Given the description of an element on the screen output the (x, y) to click on. 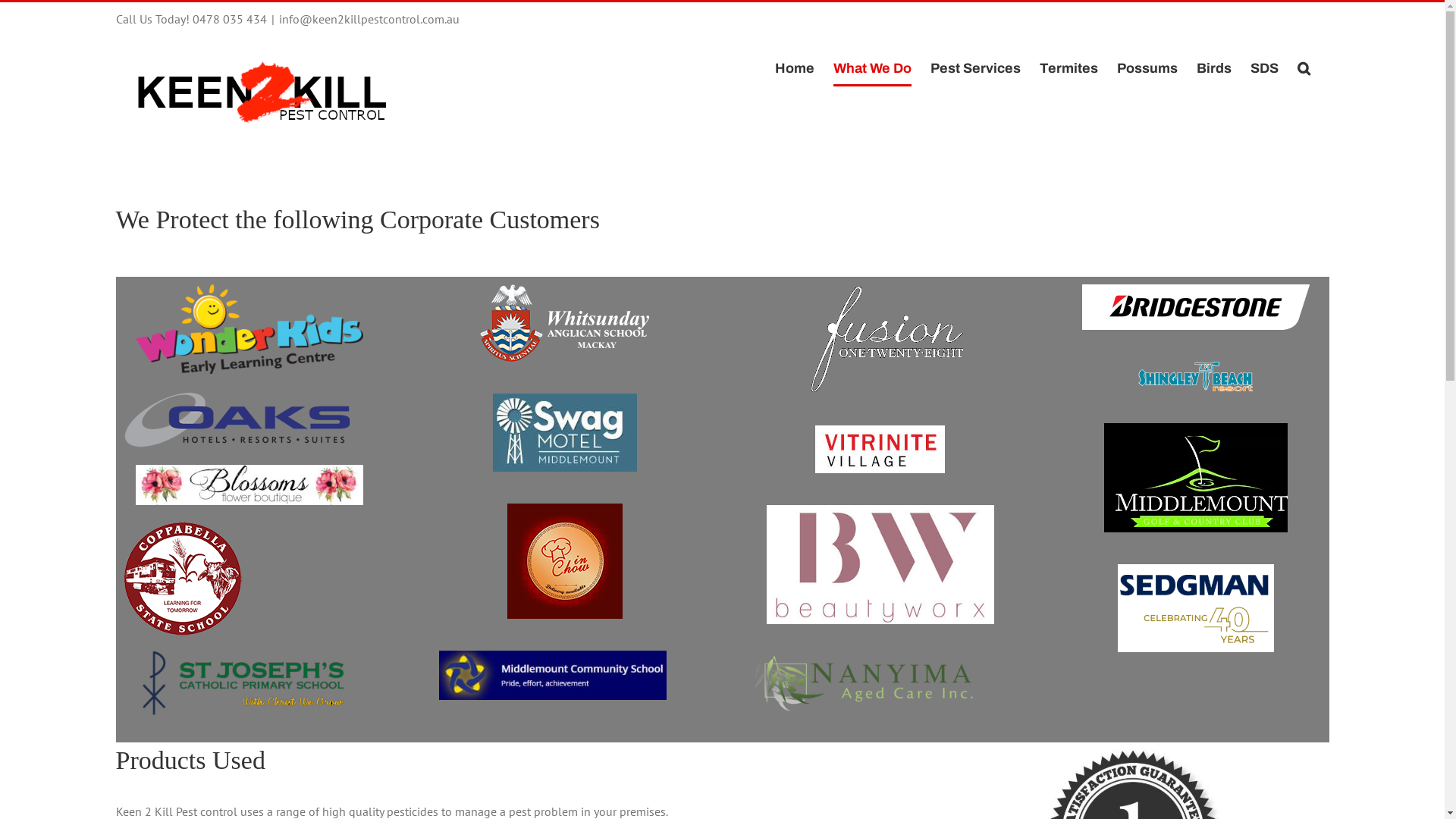
chowin Element type: hover (563, 560)
What We Do Element type: text (871, 68)
bworx Element type: hover (879, 564)
vitrinite Element type: hover (879, 449)
Birds Element type: text (1213, 68)
Home Element type: text (794, 68)
logo-bridgestone Element type: hover (1194, 306)
wac Element type: hover (564, 322)
swag Element type: hover (564, 432)
coppa Element type: hover (181, 578)
Search Element type: hover (1302, 68)
Pest Services Element type: text (974, 68)
mmcs Element type: hover (551, 674)
sedgman Element type: hover (1195, 608)
Possums Element type: text (1146, 68)
0478 035 434 Element type: text (229, 18)
SDS Element type: text (1263, 68)
Oaks Hotels Resorts Suites Australia Element type: hover (236, 419)
middlemount Element type: hover (1195, 477)
logo_main Element type: hover (880, 338)
wc Element type: hover (248, 329)
Termites Element type: text (1067, 68)
shingley-beach-resort-1 Element type: hover (1195, 376)
info@keen2killpestcontrol.com.au Element type: text (369, 18)
